Given the description of an element on the screen output the (x, y) to click on. 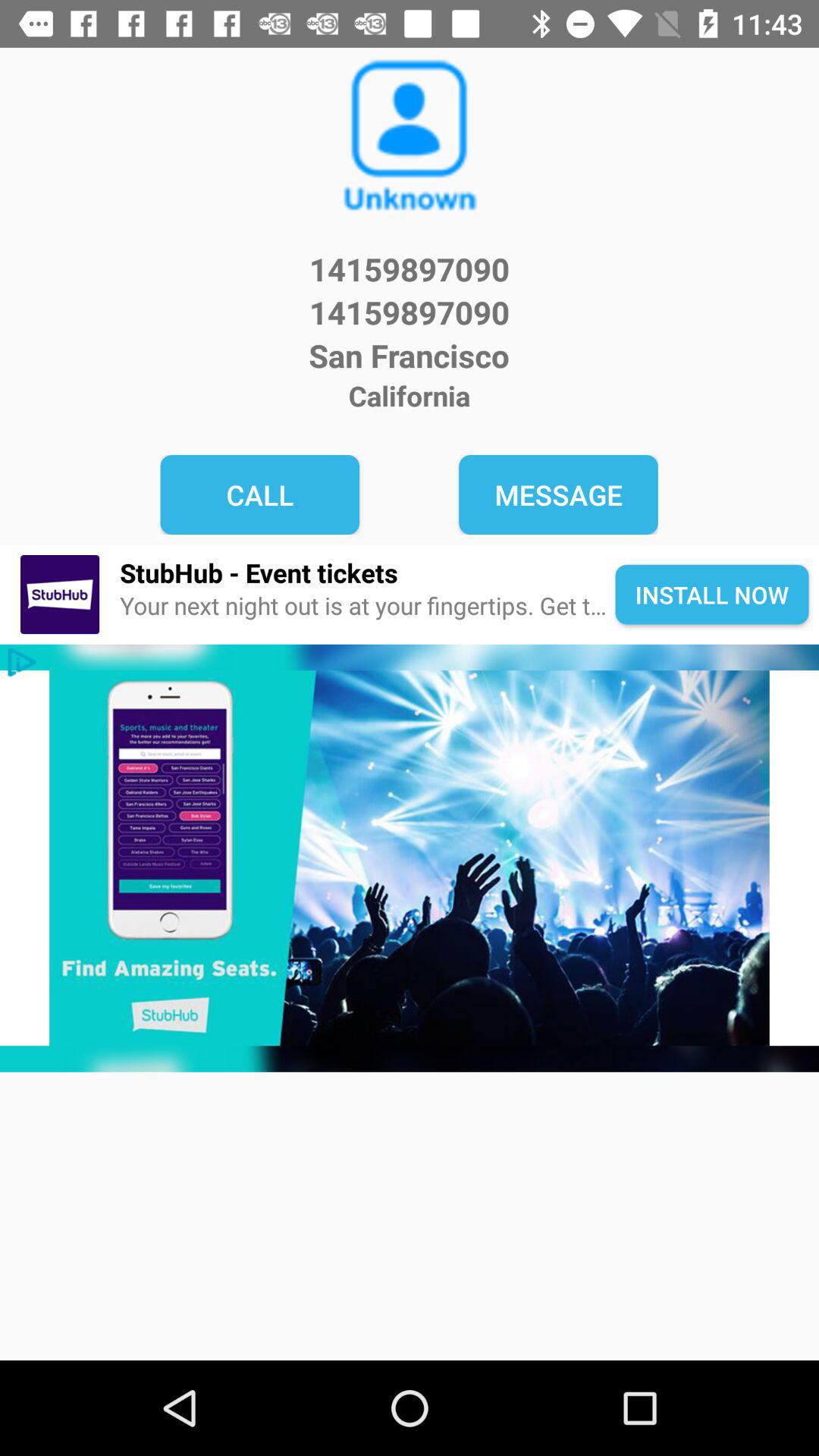
tap install now icon (711, 594)
